Given the description of an element on the screen output the (x, y) to click on. 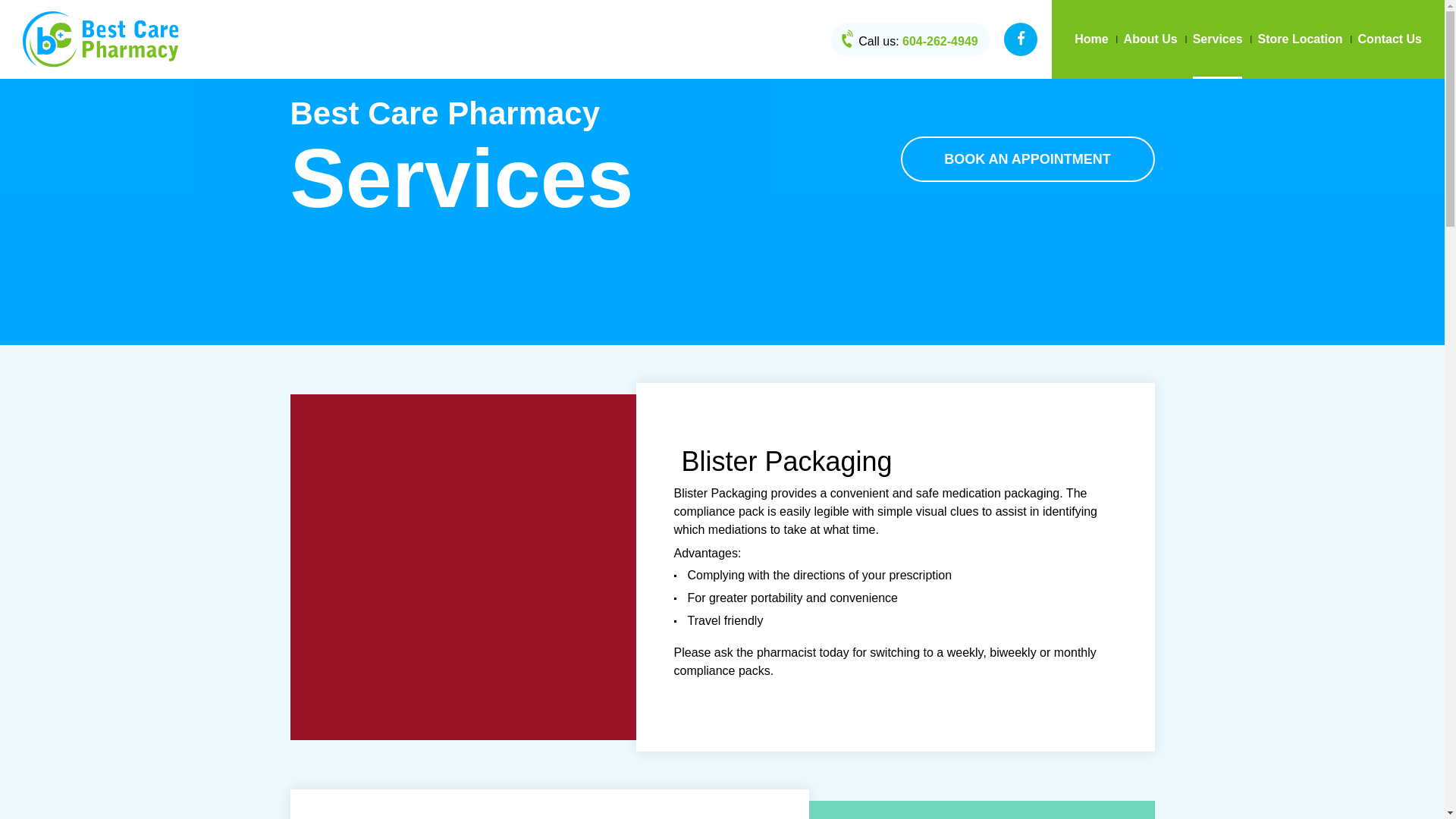
BOOK AN APPOINTMENT Element type: text (1027, 159)
604-262-4949 Element type: text (940, 40)
Home Element type: text (1090, 39)
Store Location Element type: text (1300, 39)
Contact Us Element type: text (1389, 39)
About Us Element type: text (1150, 39)
Services Element type: text (1217, 39)
